Given the description of an element on the screen output the (x, y) to click on. 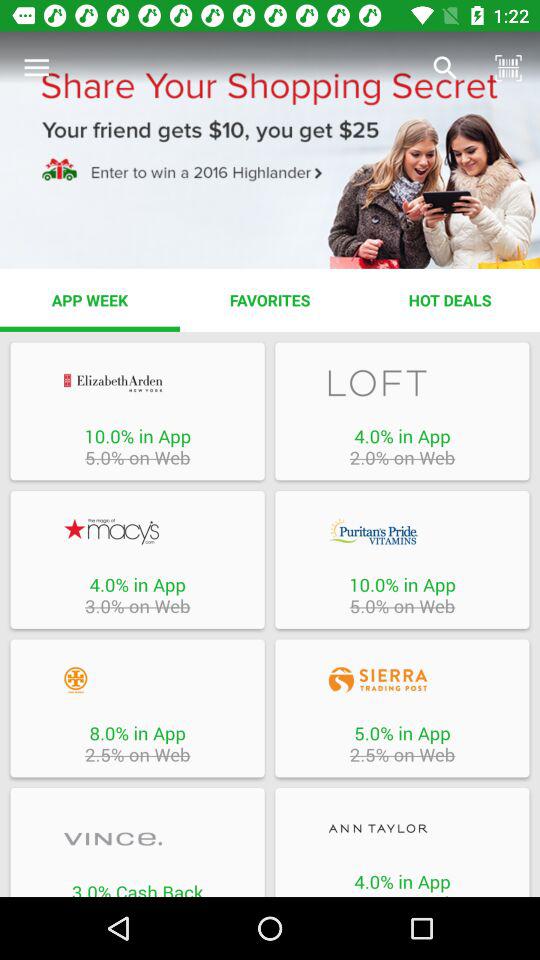
go to macys store (137, 531)
